Given the description of an element on the screen output the (x, y) to click on. 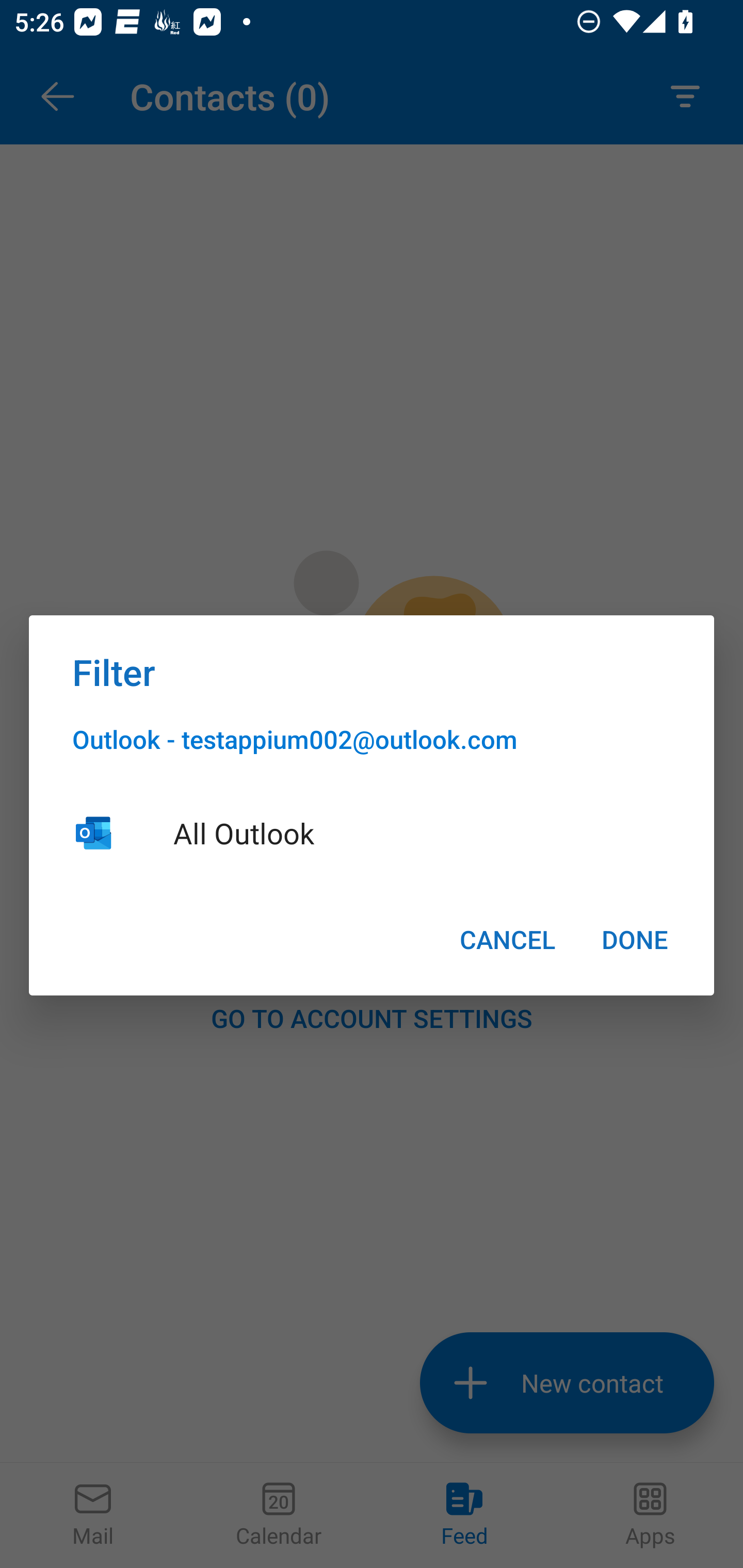
All Outlook, Unselected All Outlook (371, 832)
CANCEL (507, 938)
DONE (634, 938)
